Given the description of an element on the screen output the (x, y) to click on. 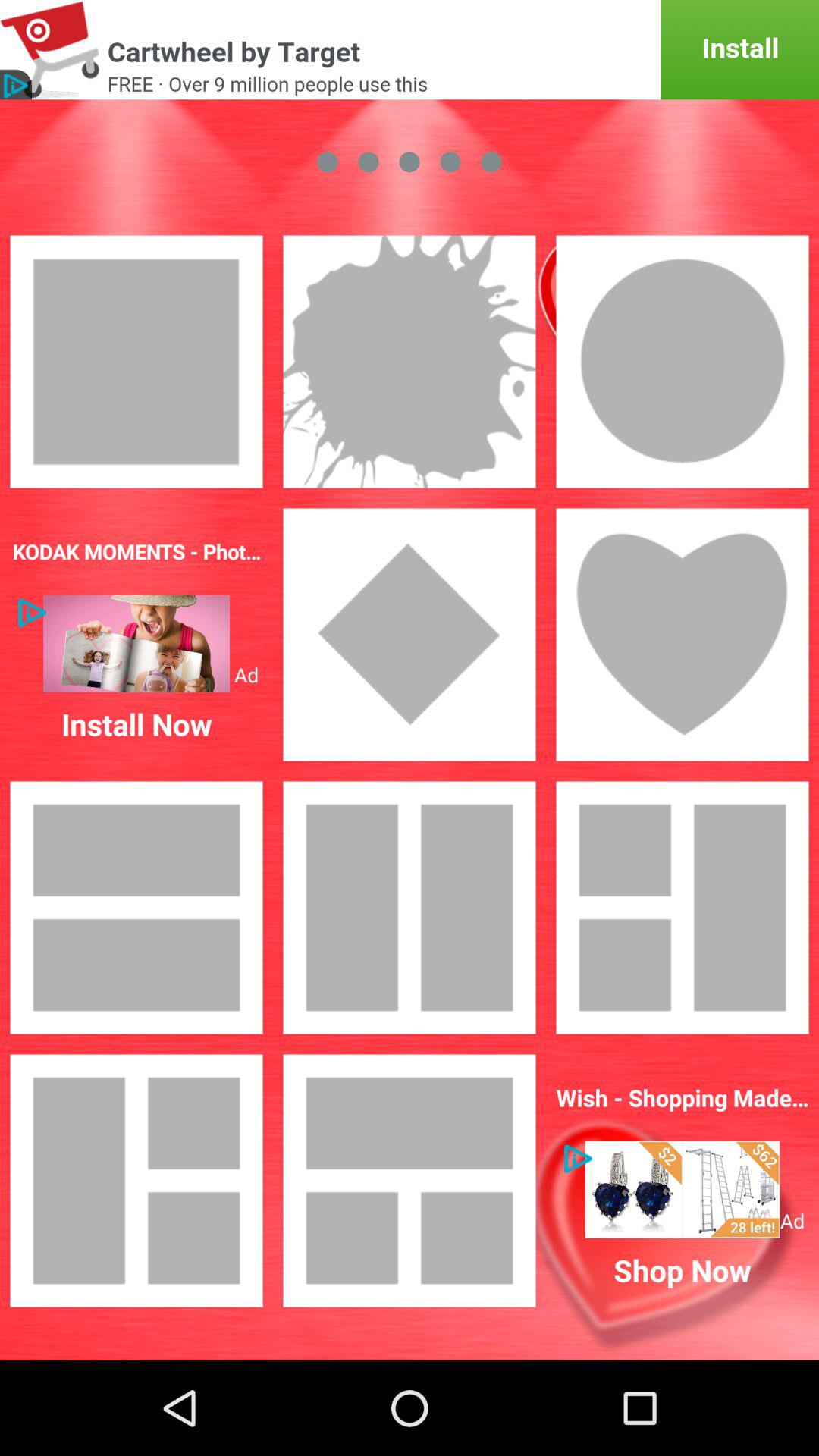
go to frame (682, 907)
